Given the description of an element on the screen output the (x, y) to click on. 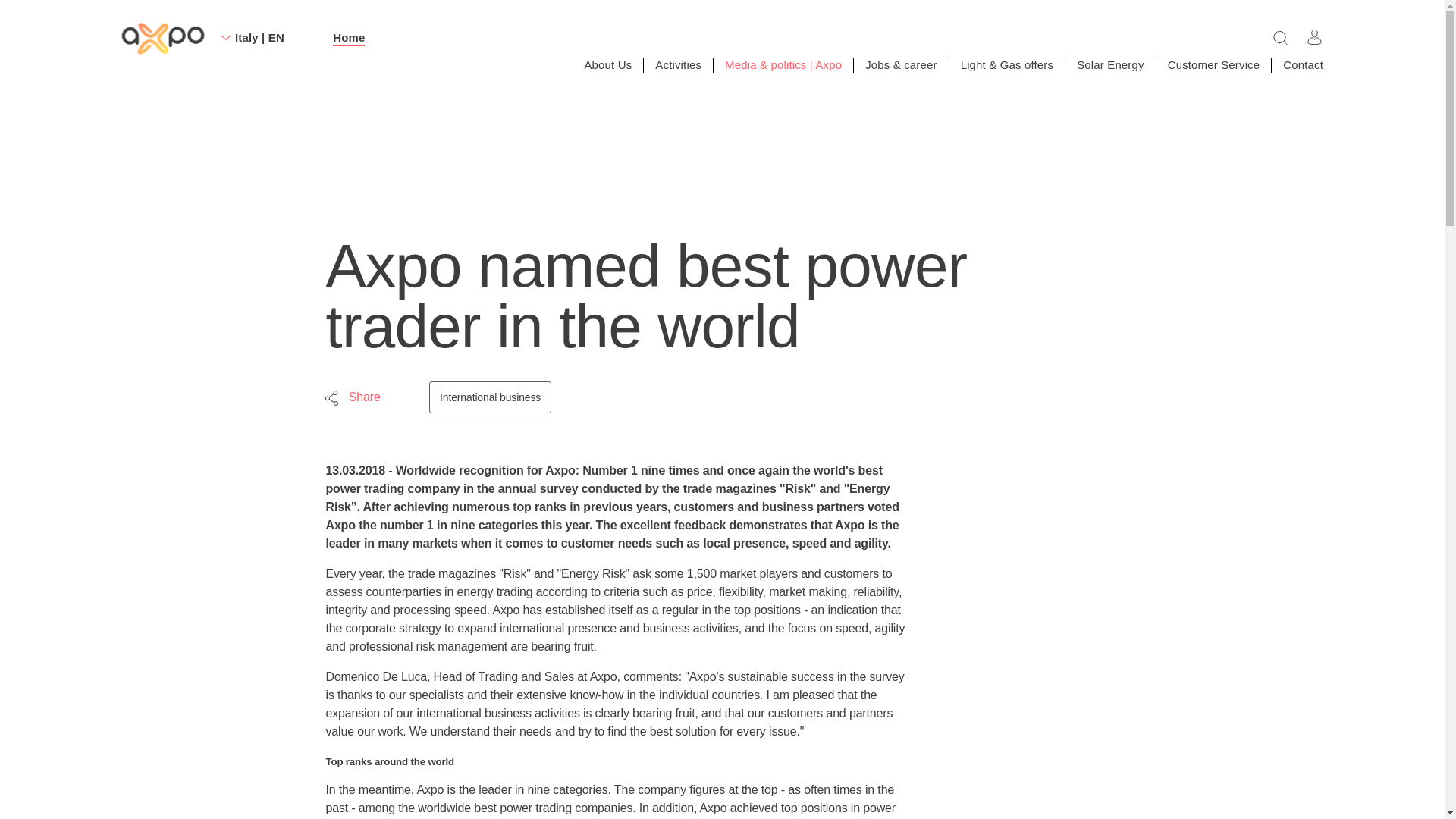
Home (162, 40)
About Us (607, 64)
Customer Portal (1314, 36)
Activities (678, 64)
Toggle Search Form (1279, 36)
Home (349, 37)
